Given the description of an element on the screen output the (x, y) to click on. 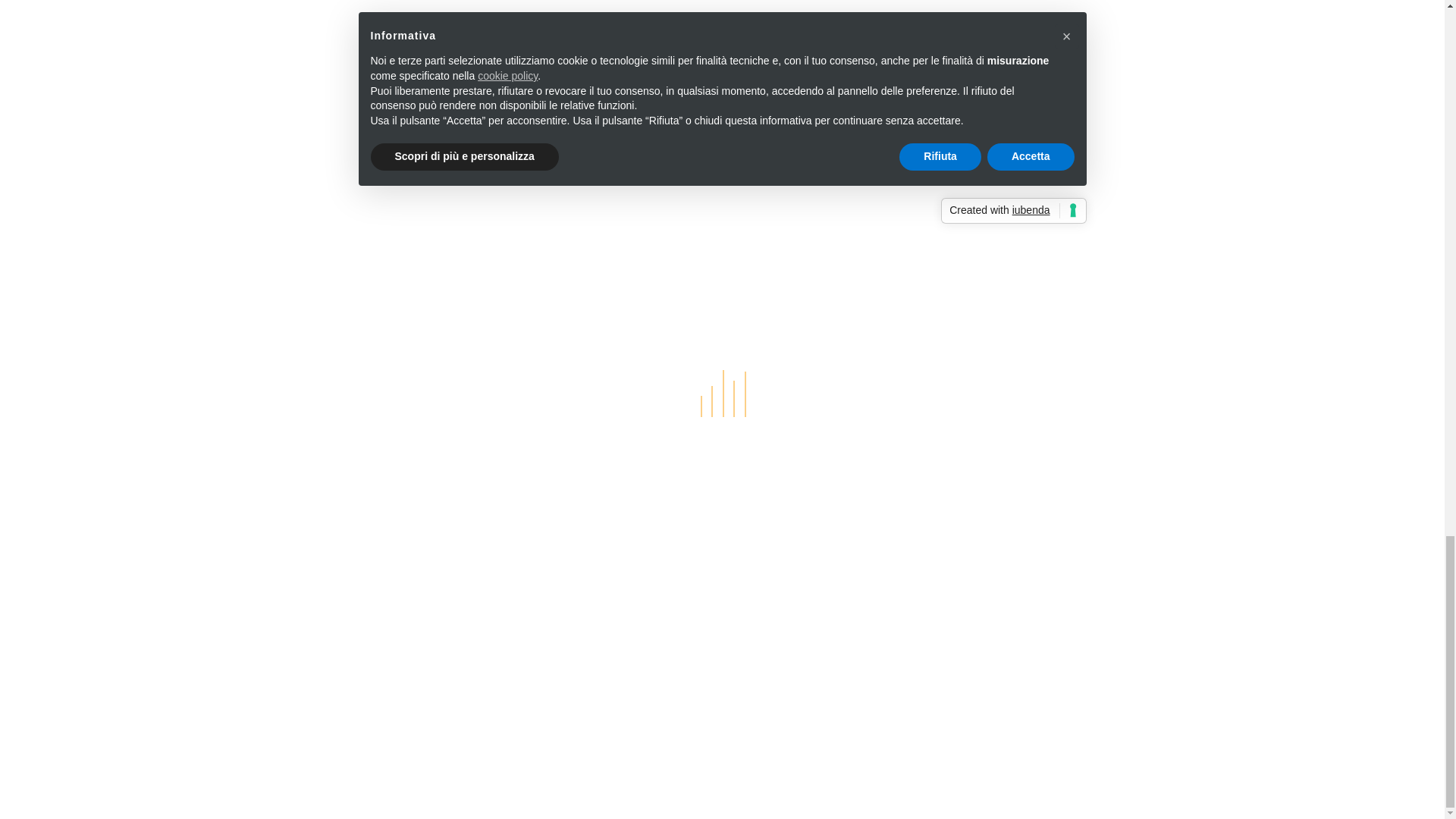
Parquet: pavimenti in legno (409, 154)
Instagram (645, 46)
Piastrelle XL (369, 108)
Privacy Policy  (342, 677)
Pavimenti e Rivestimenti ceramici (426, 84)
Prodotti e Servizi (366, 62)
LinkedIn (610, 46)
Home (335, 39)
